Given the description of an element on the screen output the (x, y) to click on. 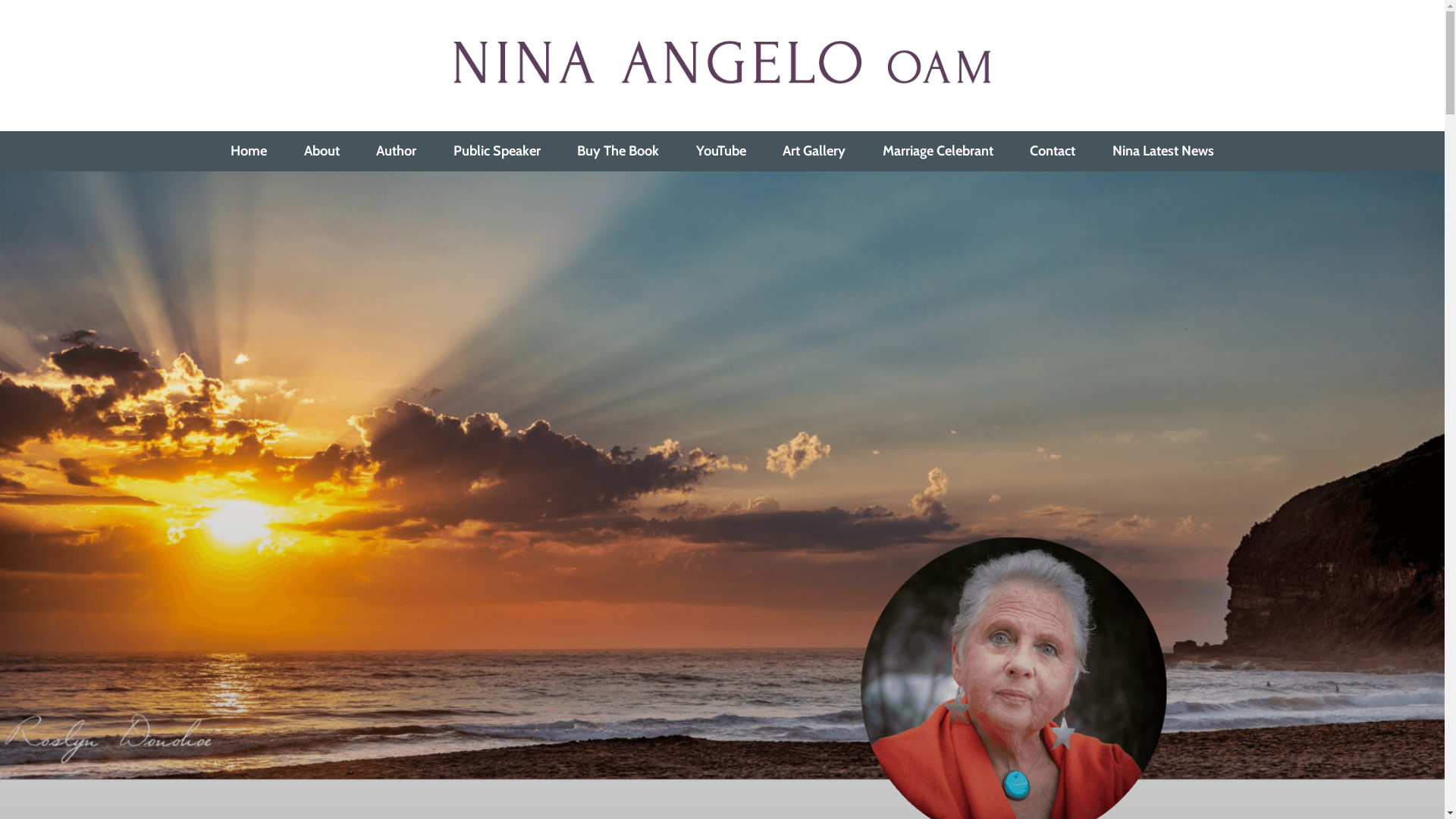
Take Action Now! Element type: text (345, 17)
About Element type: text (321, 150)
Public Speaker Element type: text (497, 150)
NINA ANGELO OAM Element type: text (409, 111)
Contact Element type: text (1053, 150)
Art Gallery Element type: text (814, 150)
Buy The Book Element type: text (617, 150)
Marriage Celebrant Element type: text (937, 150)
Nina Latest News Element type: text (1163, 150)
Author Element type: text (396, 150)
YouTube Element type: text (720, 150)
Home Element type: text (249, 150)
